Given the description of an element on the screen output the (x, y) to click on. 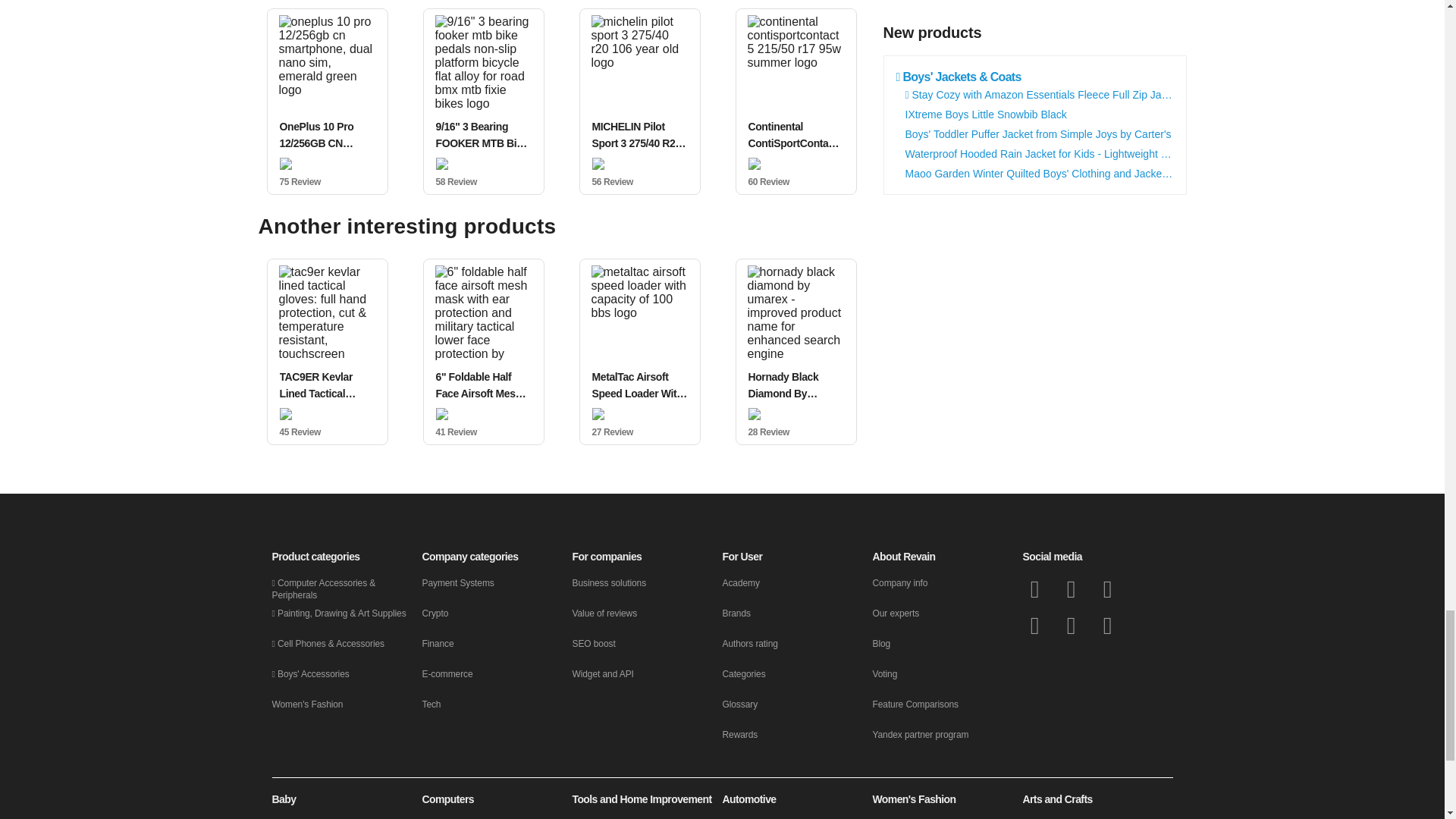
Revain Twitter (1070, 589)
Revain Telegram channel (1034, 625)
Revain Telegram group (1106, 589)
Revain Facebook (1034, 589)
